Given the description of an element on the screen output the (x, y) to click on. 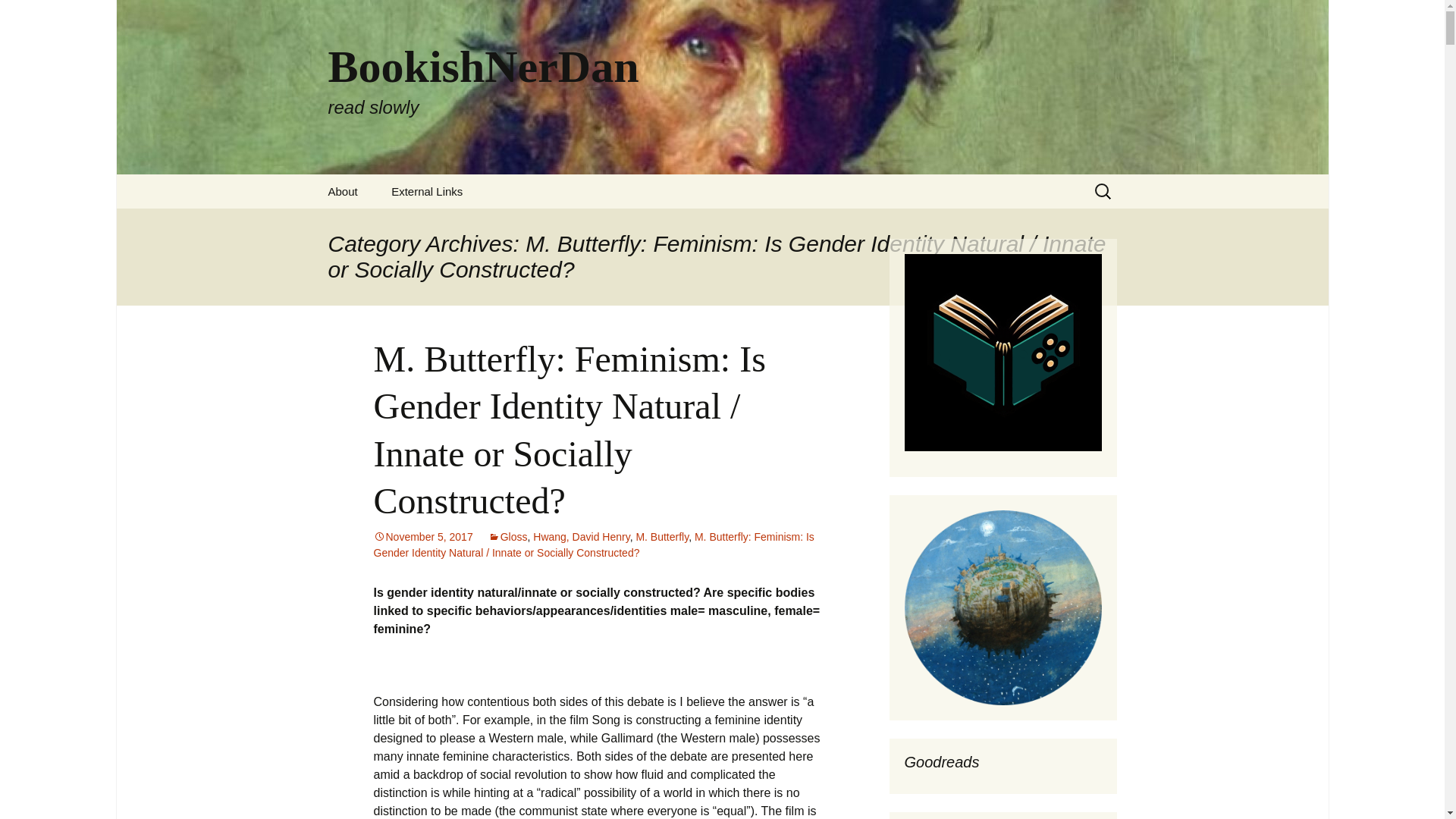
November 5, 2017 (421, 536)
About (342, 191)
Gloss (507, 536)
BookishNerDan (18, 15)
Hwang, David Henry (661, 536)
Skip to content (580, 536)
Emily Dickinson Archive (426, 191)
